Given the description of an element on the screen output the (x, y) to click on. 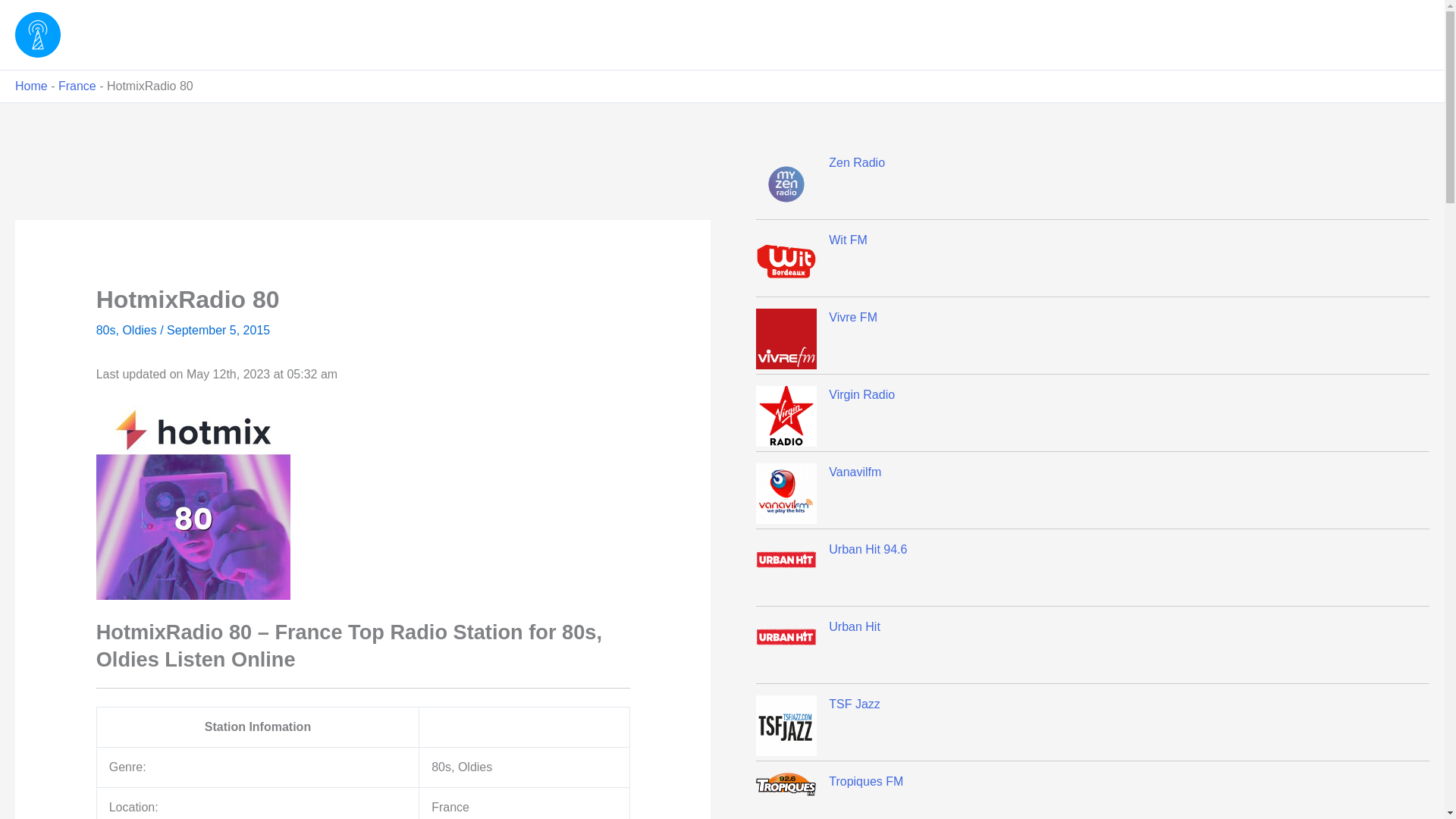
Genres (1315, 34)
Home (31, 85)
Oldies (138, 329)
France (77, 85)
Top Radio (119, 33)
Countries (1388, 34)
80s (106, 329)
